Given the description of an element on the screen output the (x, y) to click on. 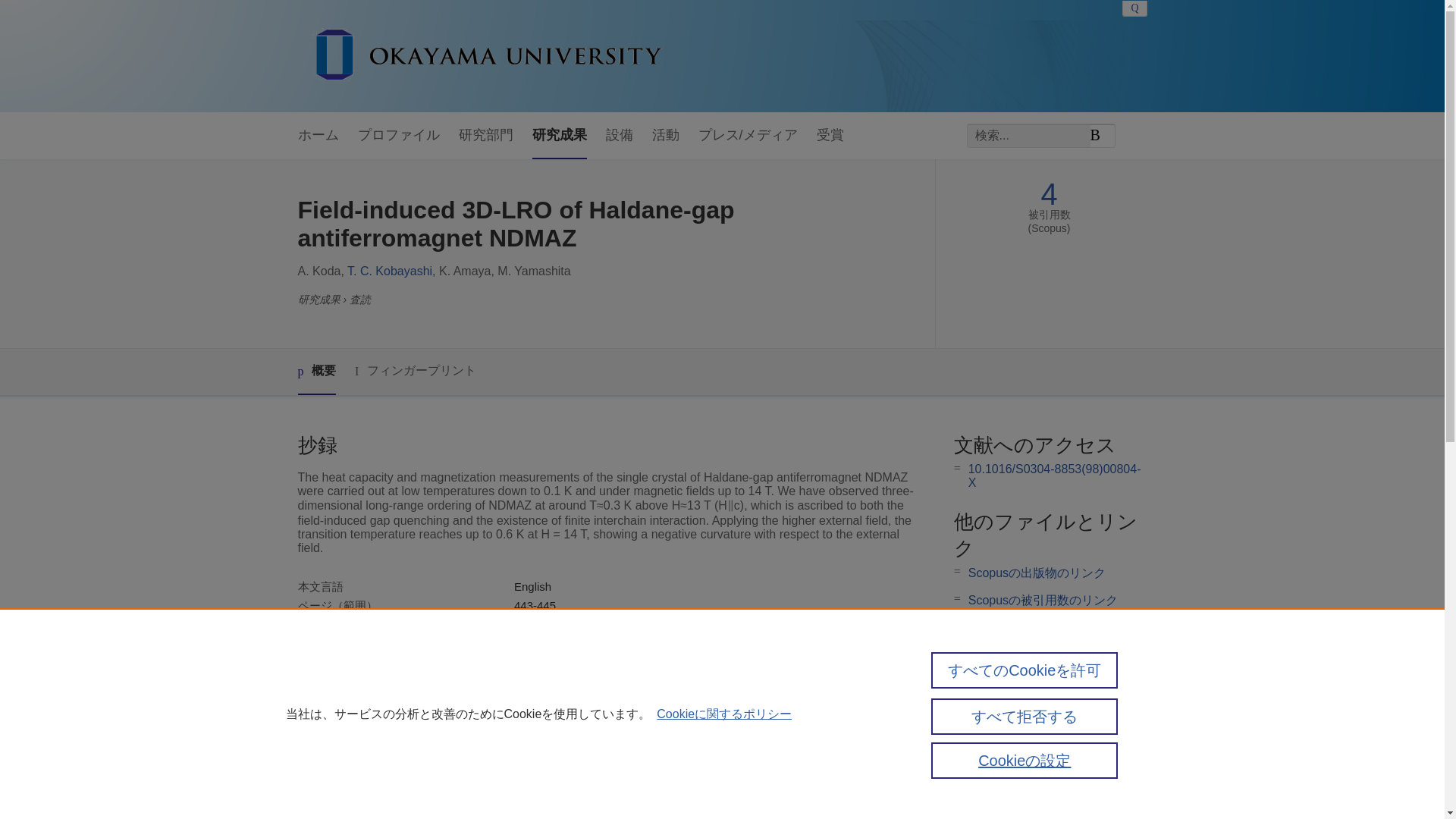
T. C. Kobayashi (389, 270)
Unknown Journal (557, 643)
